Given the description of an element on the screen output the (x, y) to click on. 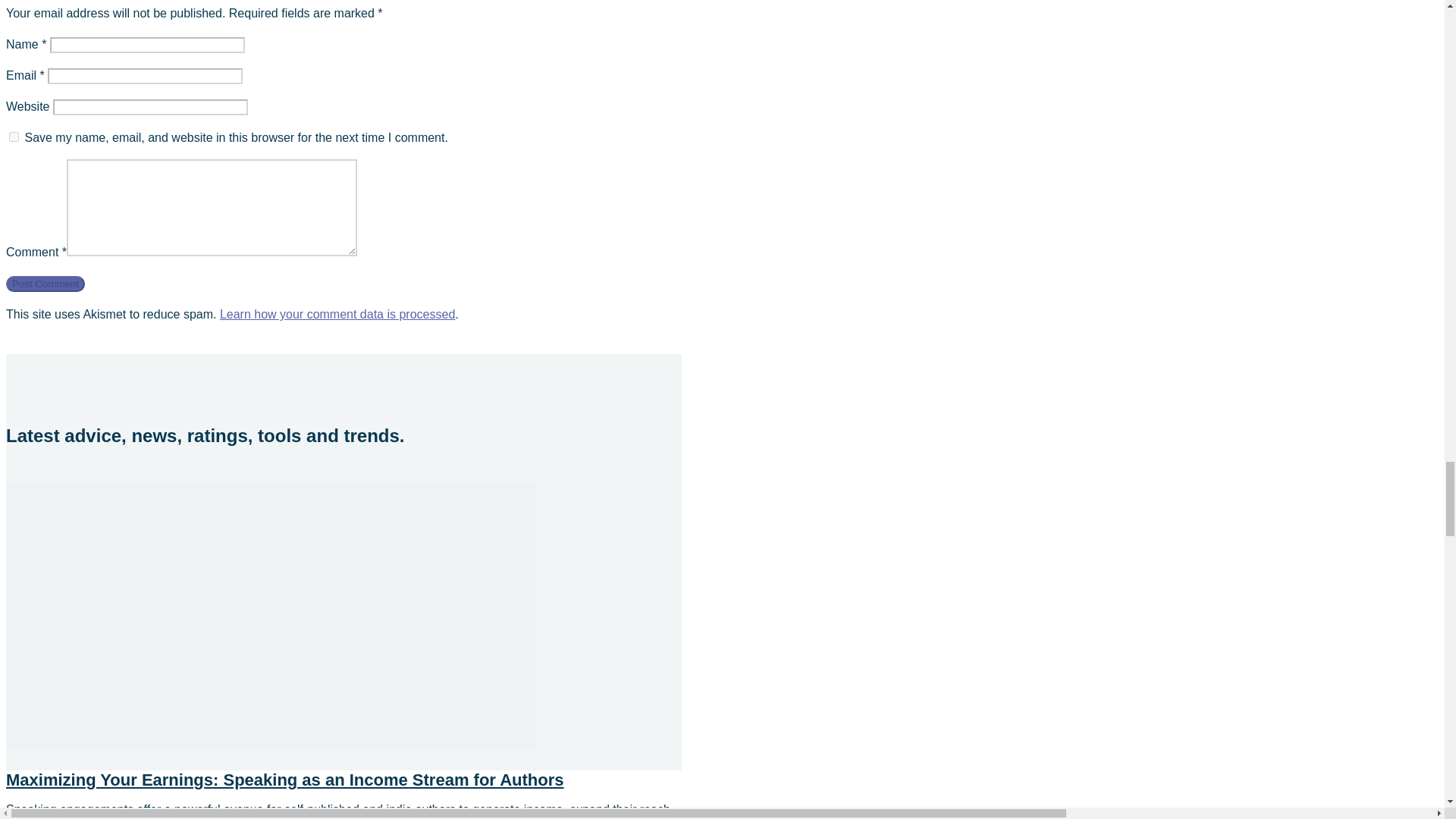
yes (13, 136)
Post Comment (44, 283)
